Given the description of an element on the screen output the (x, y) to click on. 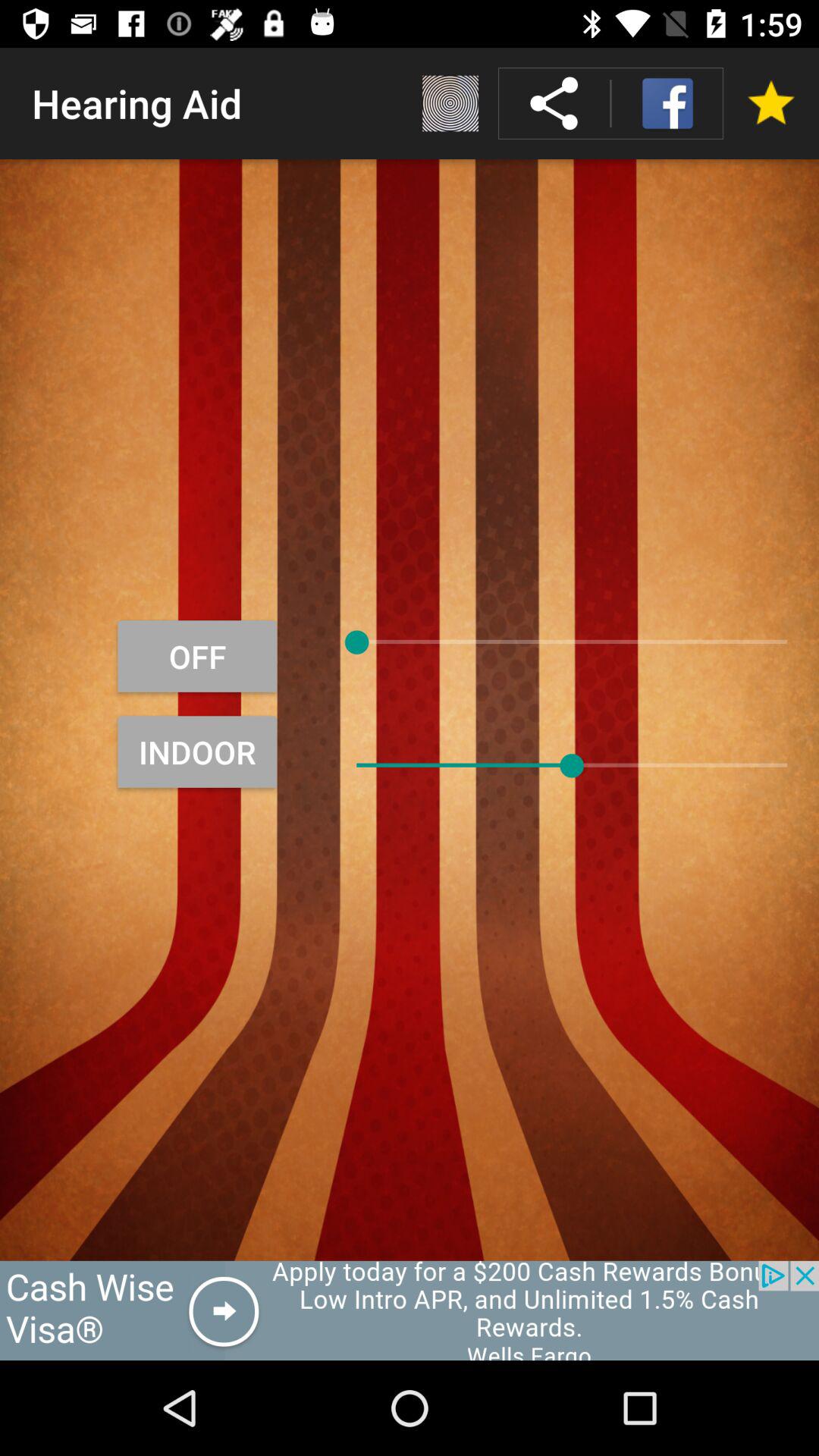
toggle advertisement (409, 1310)
